Given the description of an element on the screen output the (x, y) to click on. 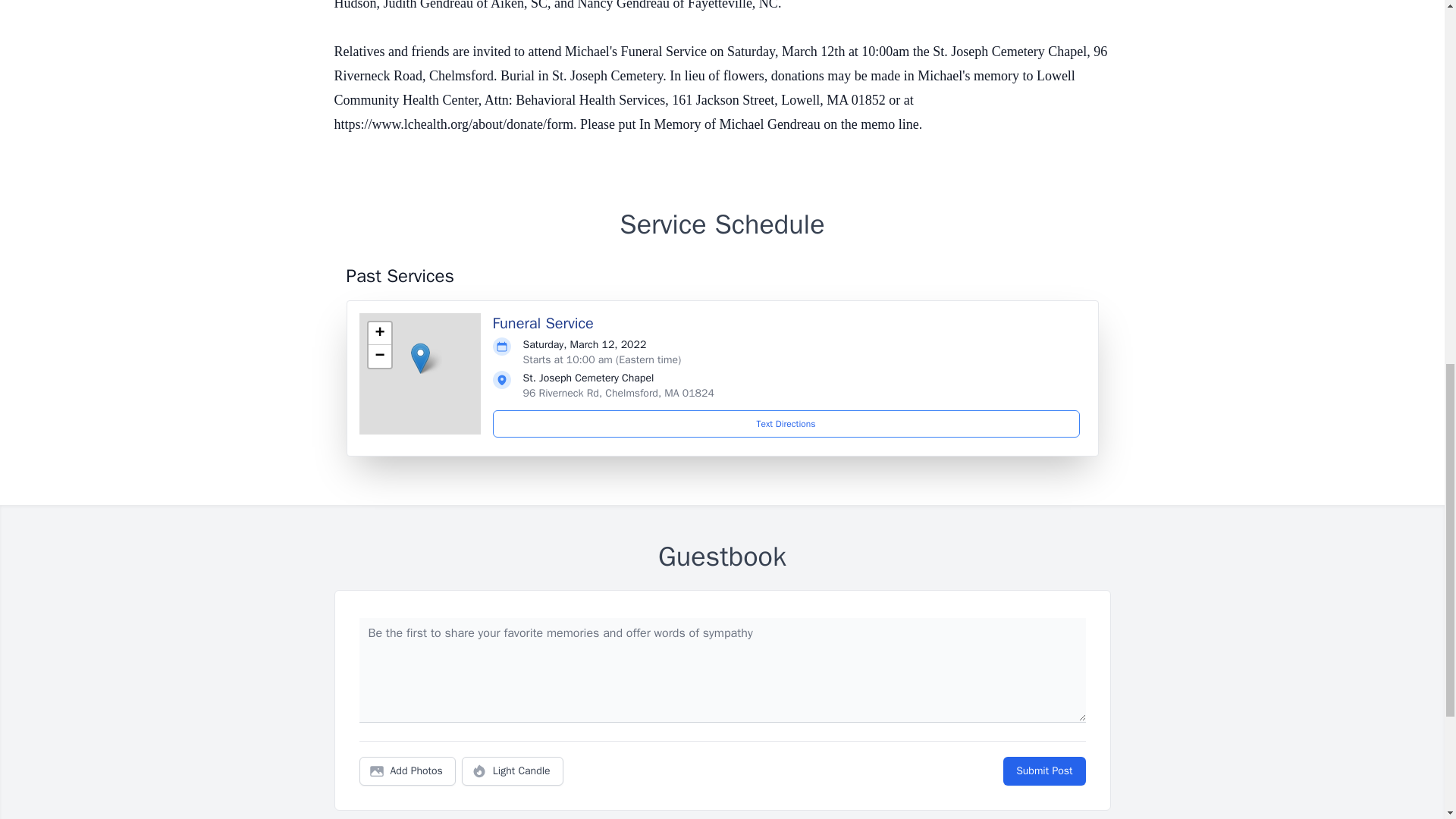
Zoom in (379, 333)
Zoom out (379, 355)
Text Directions (786, 423)
Submit Post (1043, 770)
Add Photos (407, 770)
96 Riverneck Rd, Chelmsford, MA 01824 (618, 392)
Light Candle (512, 770)
